Given the description of an element on the screen output the (x, y) to click on. 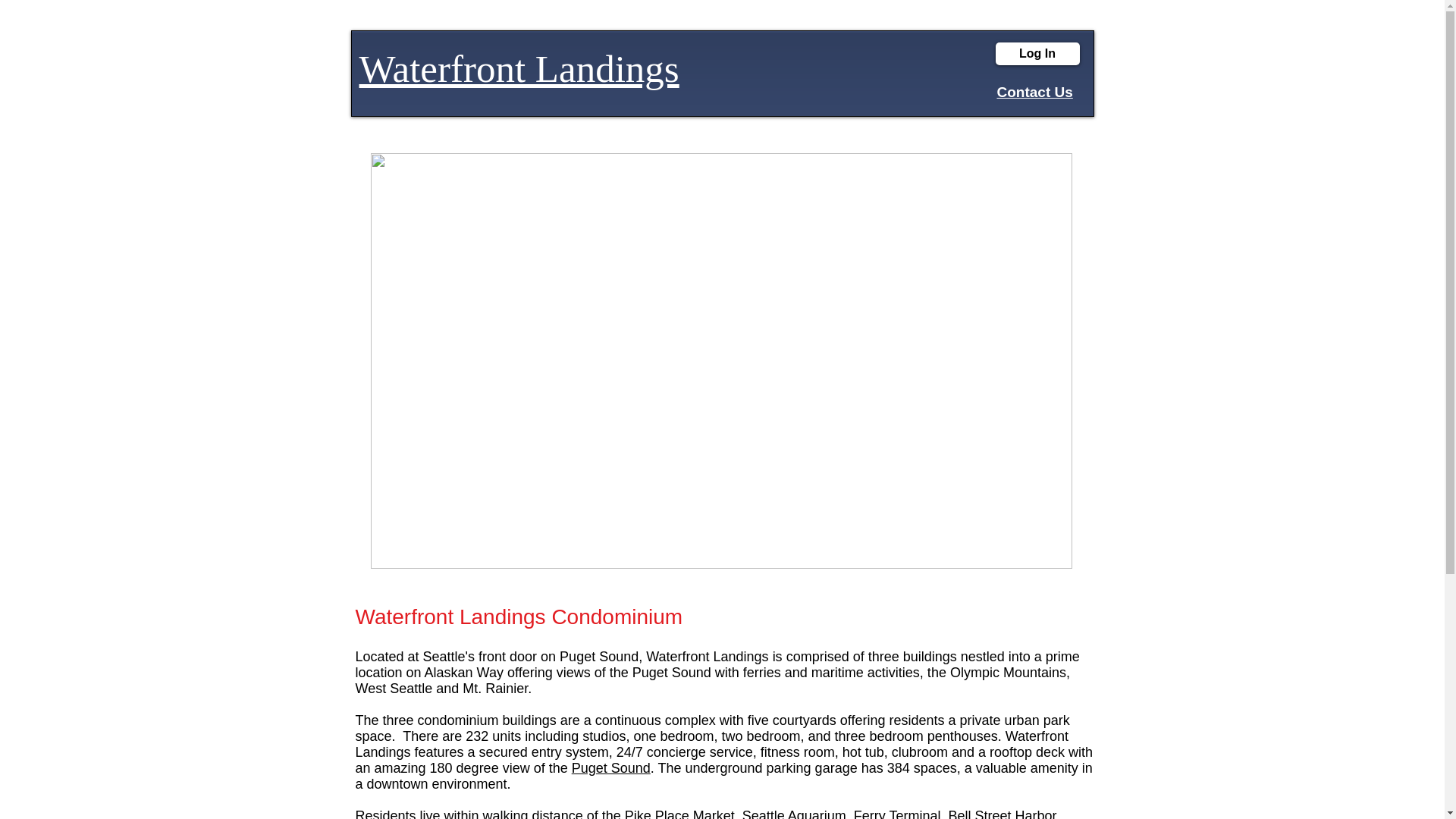
Contact Us (1033, 91)
Waterfront Landings (519, 68)
Log In (1036, 53)
Puget Sound (611, 767)
